Given the description of an element on the screen output the (x, y) to click on. 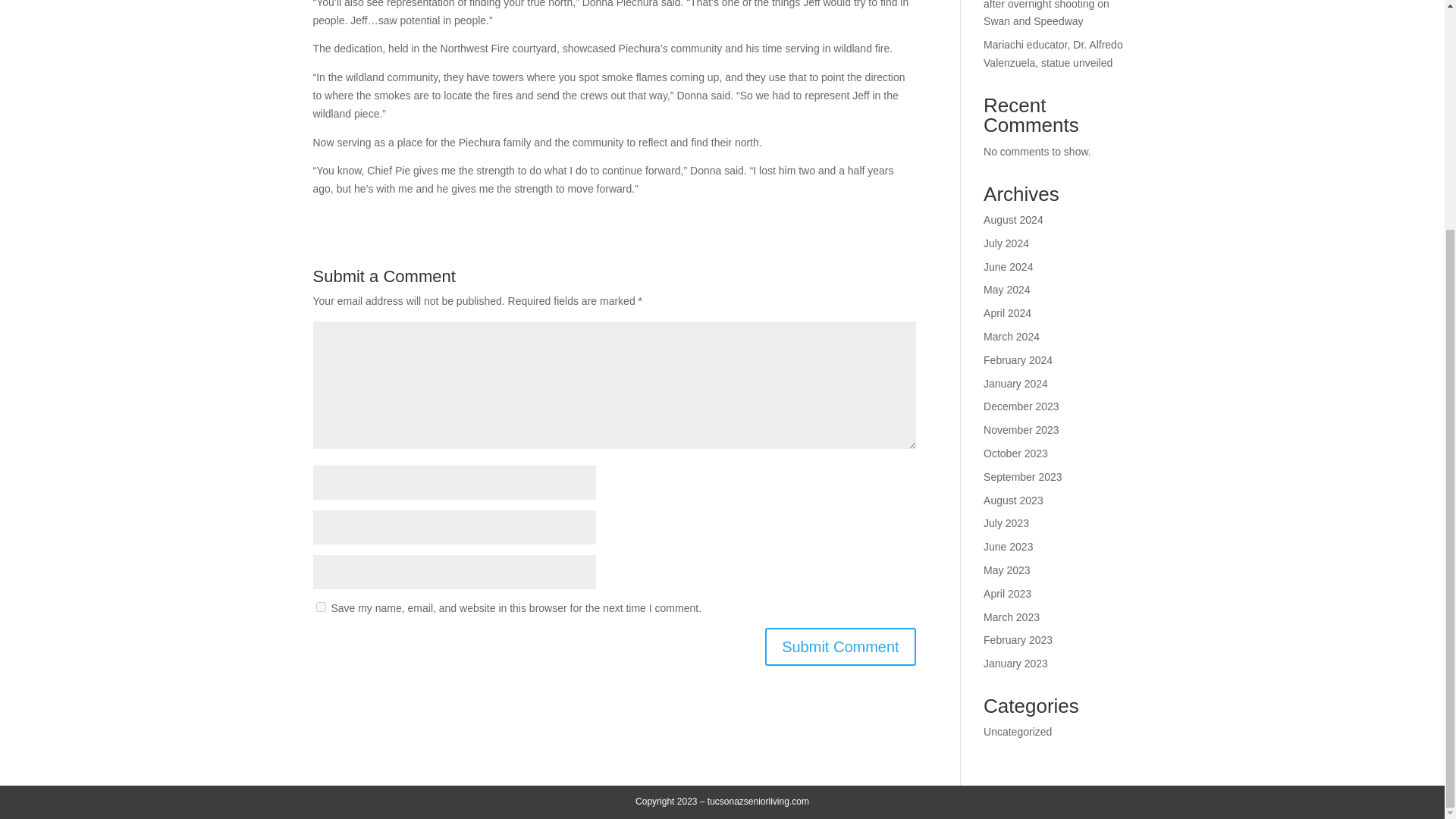
September 2023 (1023, 476)
Uncategorized (1017, 731)
August 2024 (1013, 219)
April 2023 (1007, 593)
February 2023 (1018, 639)
October 2023 (1016, 453)
November 2023 (1021, 429)
Submit Comment (840, 646)
June 2024 (1008, 266)
May 2023 (1006, 570)
